Given the description of an element on the screen output the (x, y) to click on. 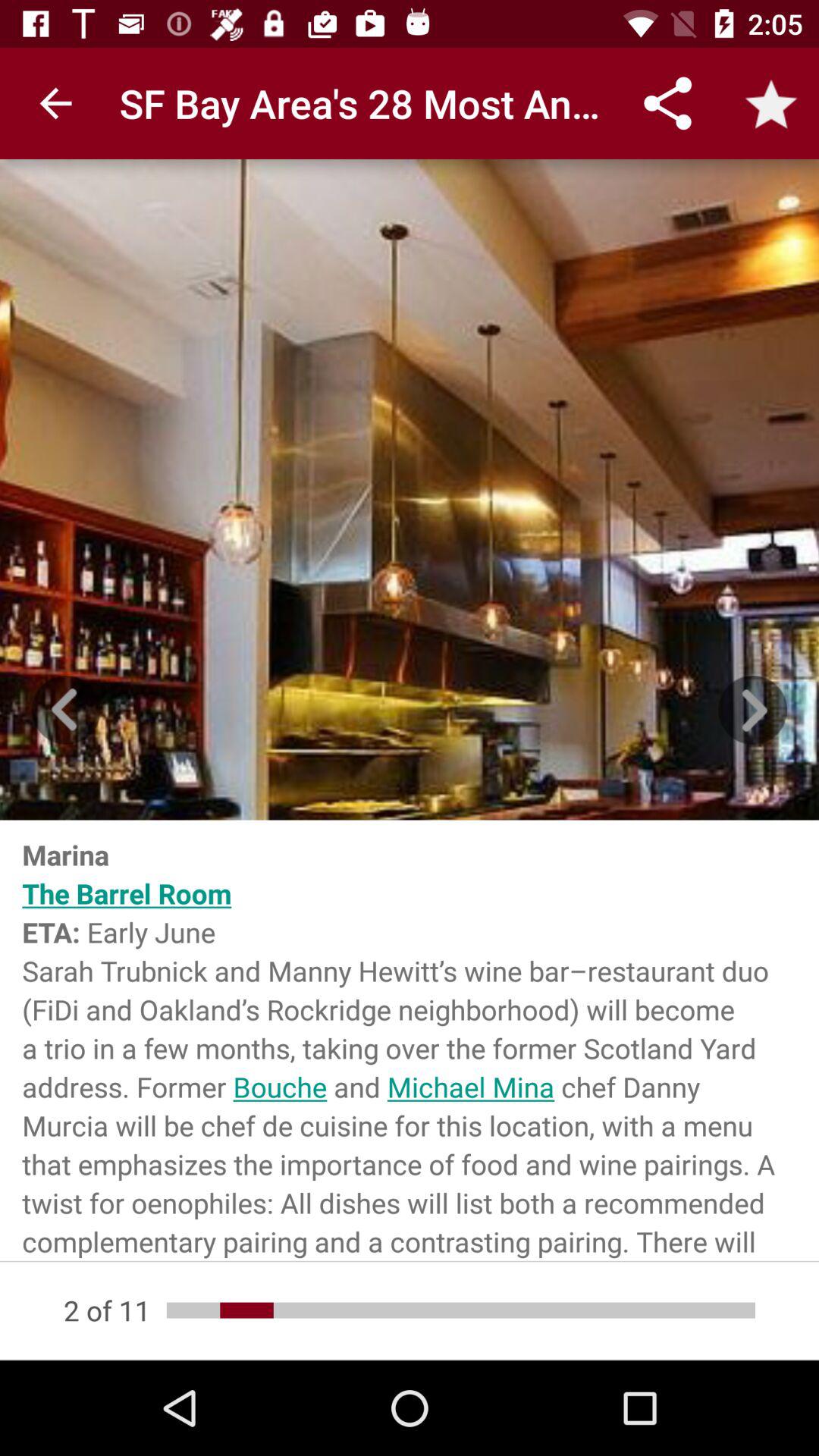
select the marina the barrel (409, 1040)
